Given the description of an element on the screen output the (x, y) to click on. 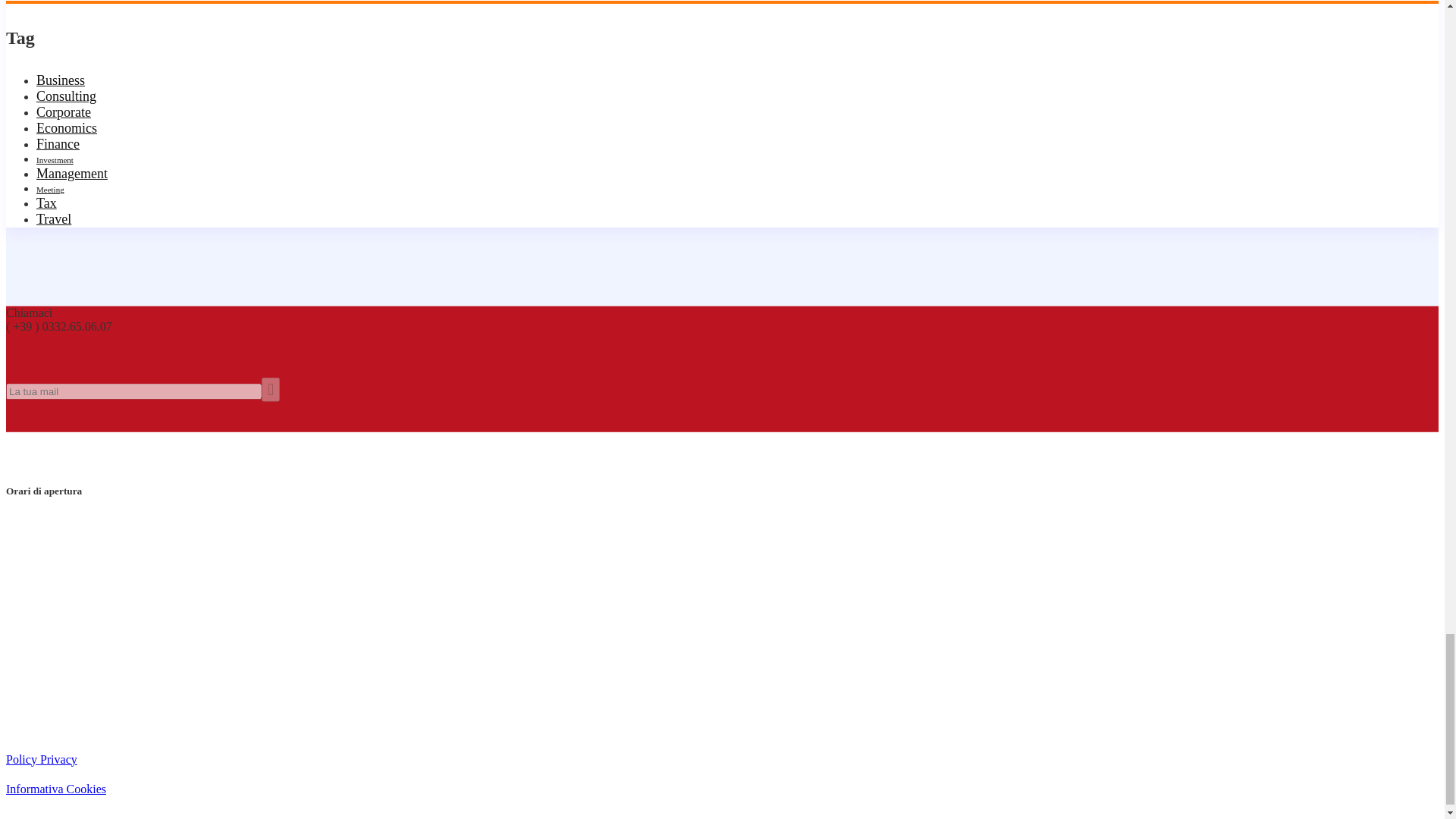
Economics (66, 127)
Investment (55, 159)
Finance (58, 143)
Consulting (66, 96)
Corporate (63, 111)
Business (60, 79)
